Given the description of an element on the screen output the (x, y) to click on. 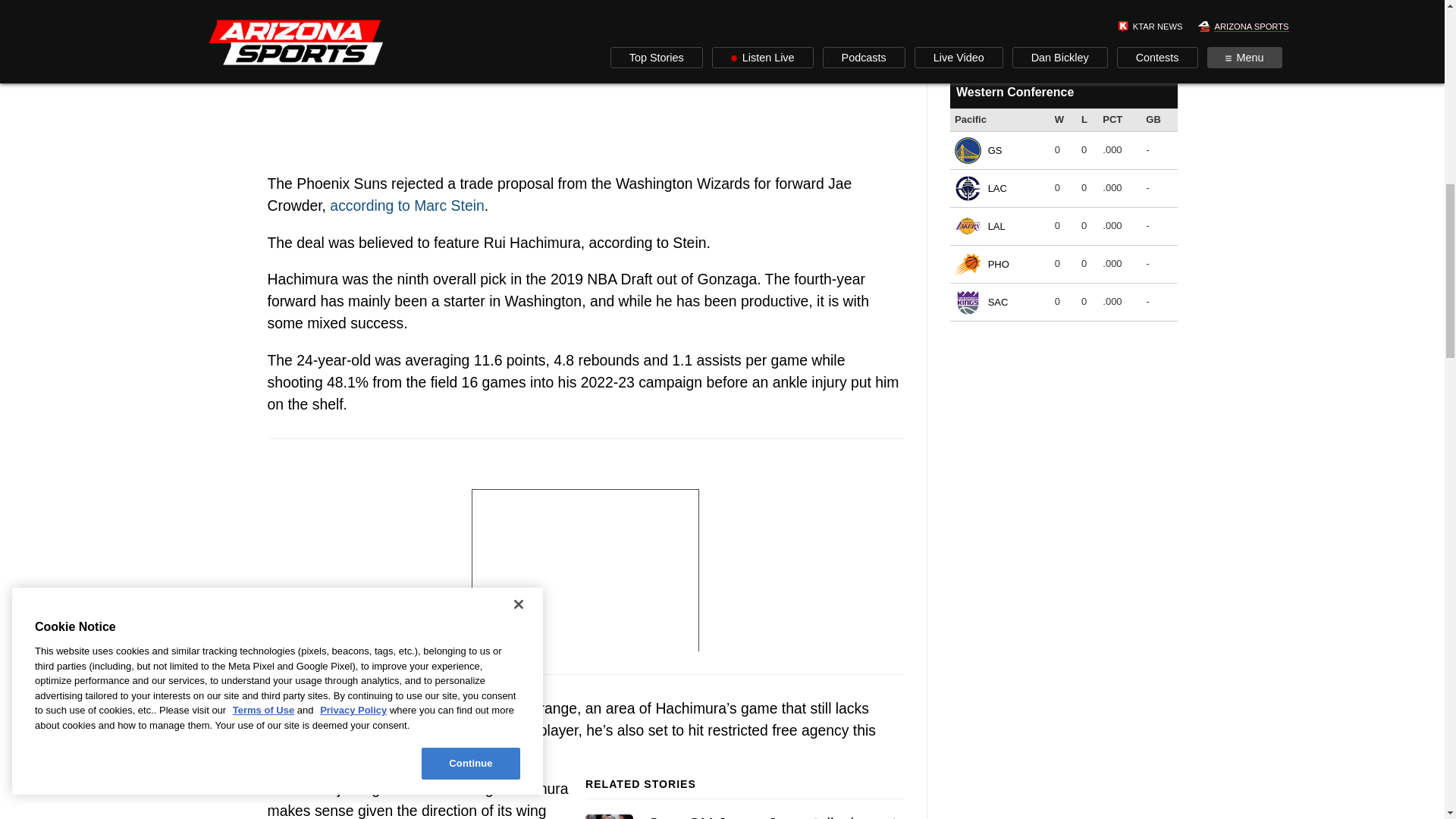
3rd party ad content (584, 556)
widget (1062, 214)
Mat Ishbia reportedly will buy Suns from Robert Sarver (584, 83)
widget (1062, 26)
